Given the description of an element on the screen output the (x, y) to click on. 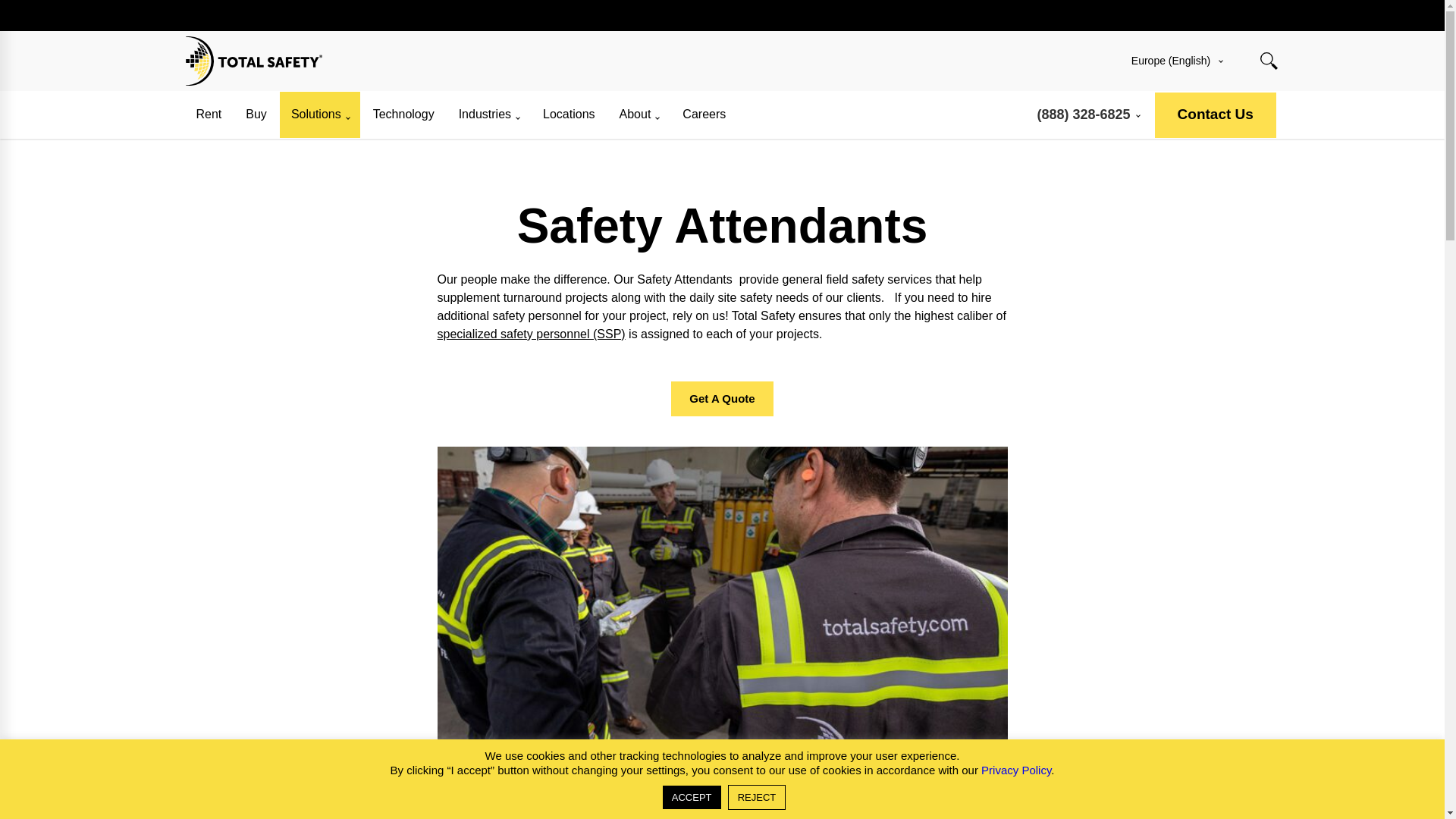
Rent (208, 114)
Buy (256, 114)
Solutions (319, 114)
